Given the description of an element on the screen output the (x, y) to click on. 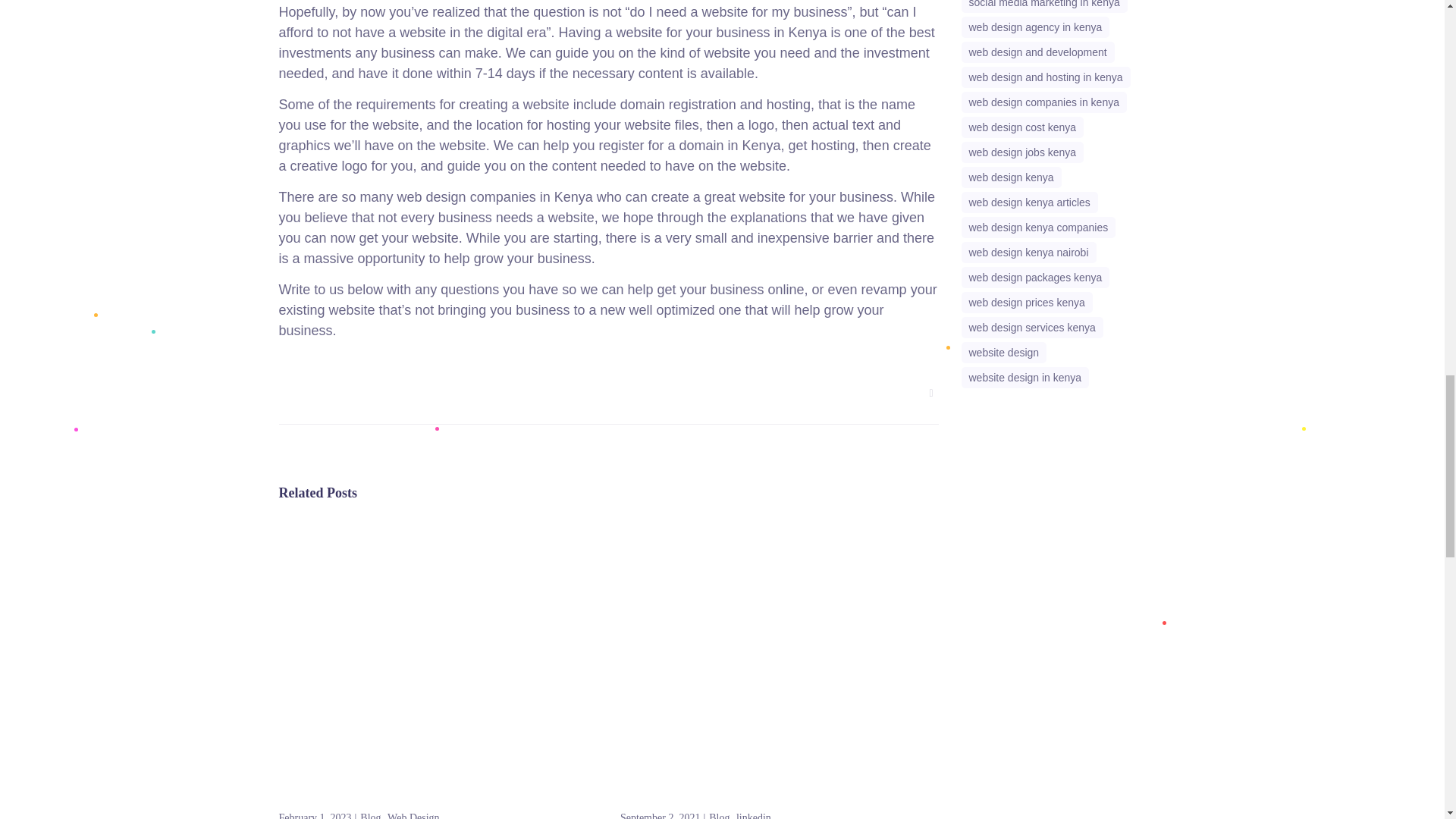
Blog (722, 814)
linkedin (753, 814)
Blog (373, 814)
Web Design (413, 814)
